Given the description of an element on the screen output the (x, y) to click on. 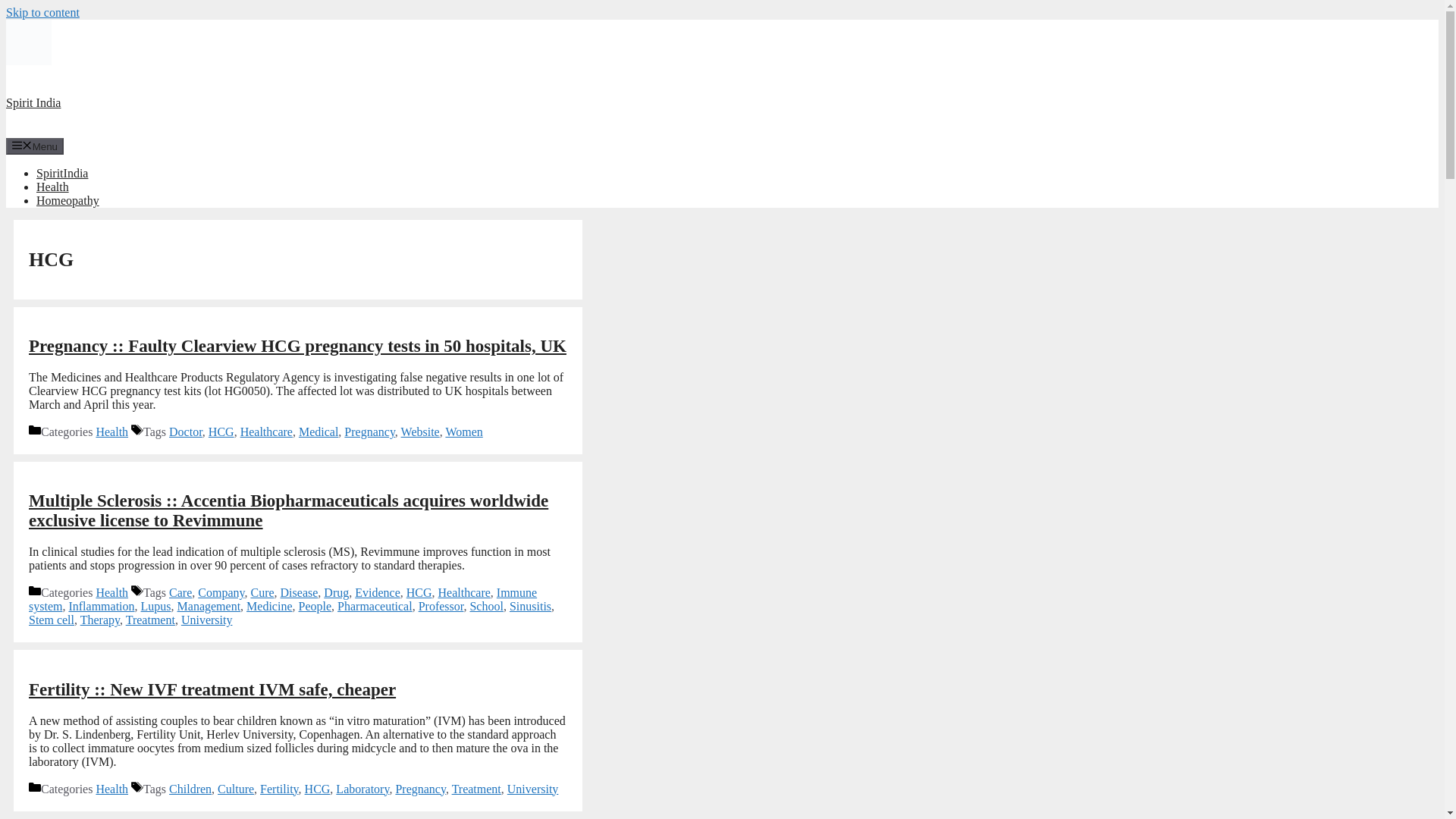
SpiritIndia (61, 173)
Inflammation (100, 605)
Medicine (269, 605)
Therapy (99, 619)
HCG (419, 592)
Women (463, 431)
Spirit India (33, 102)
Lupus (156, 605)
Drug (336, 592)
People (314, 605)
Health (112, 431)
Skip to content (42, 11)
Pharmaceutical (374, 605)
Care (180, 592)
School (485, 605)
